Given the description of an element on the screen output the (x, y) to click on. 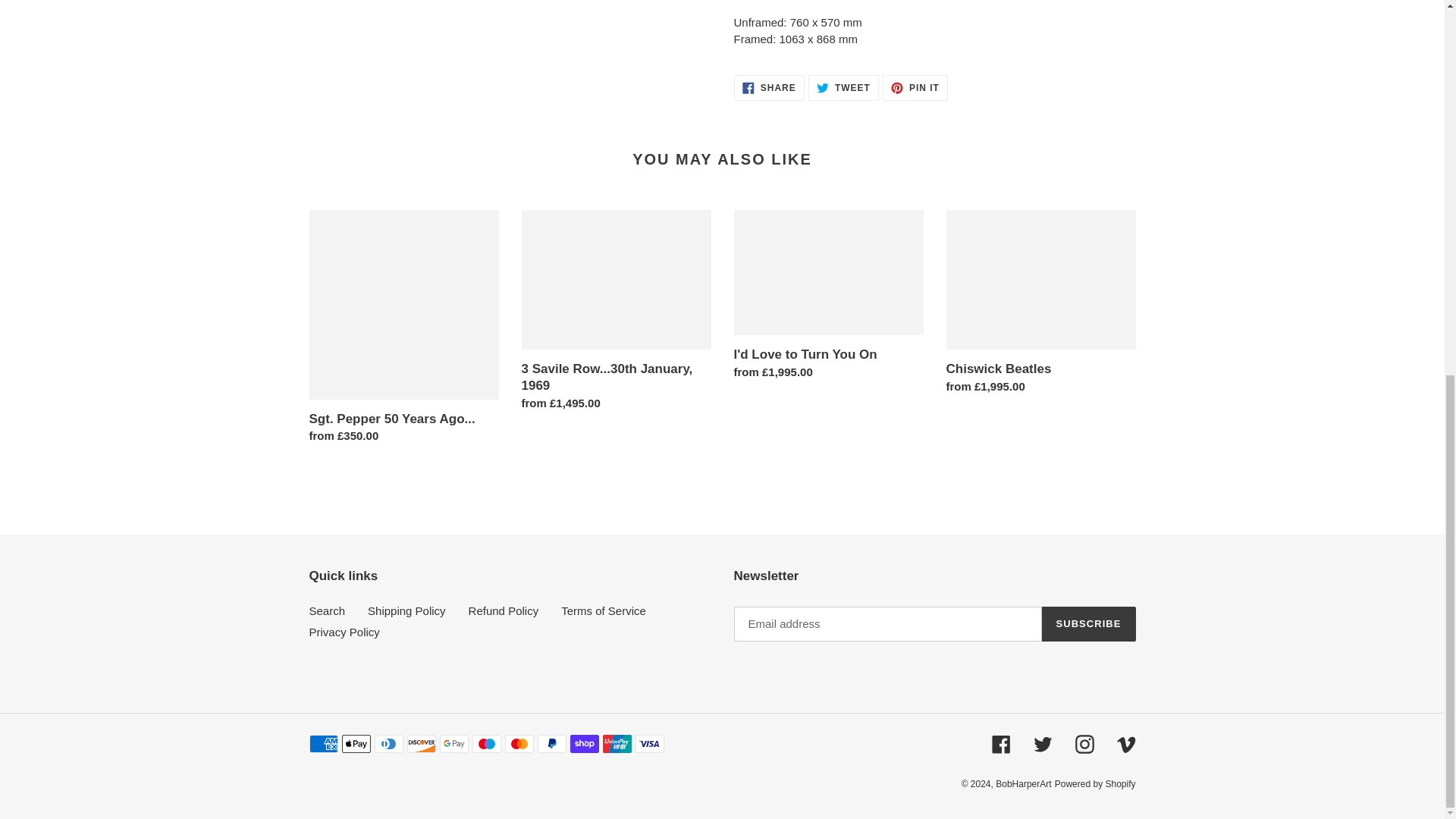
3 Savile Row...30th January, 1969 (616, 313)
Terms of Service (603, 610)
Facebook (769, 87)
Refund Policy (1000, 743)
SUBSCRIBE (503, 610)
Chiswick Beatles (843, 87)
I'd Love to Turn You On (1088, 623)
Search (1040, 305)
